Given the description of an element on the screen output the (x, y) to click on. 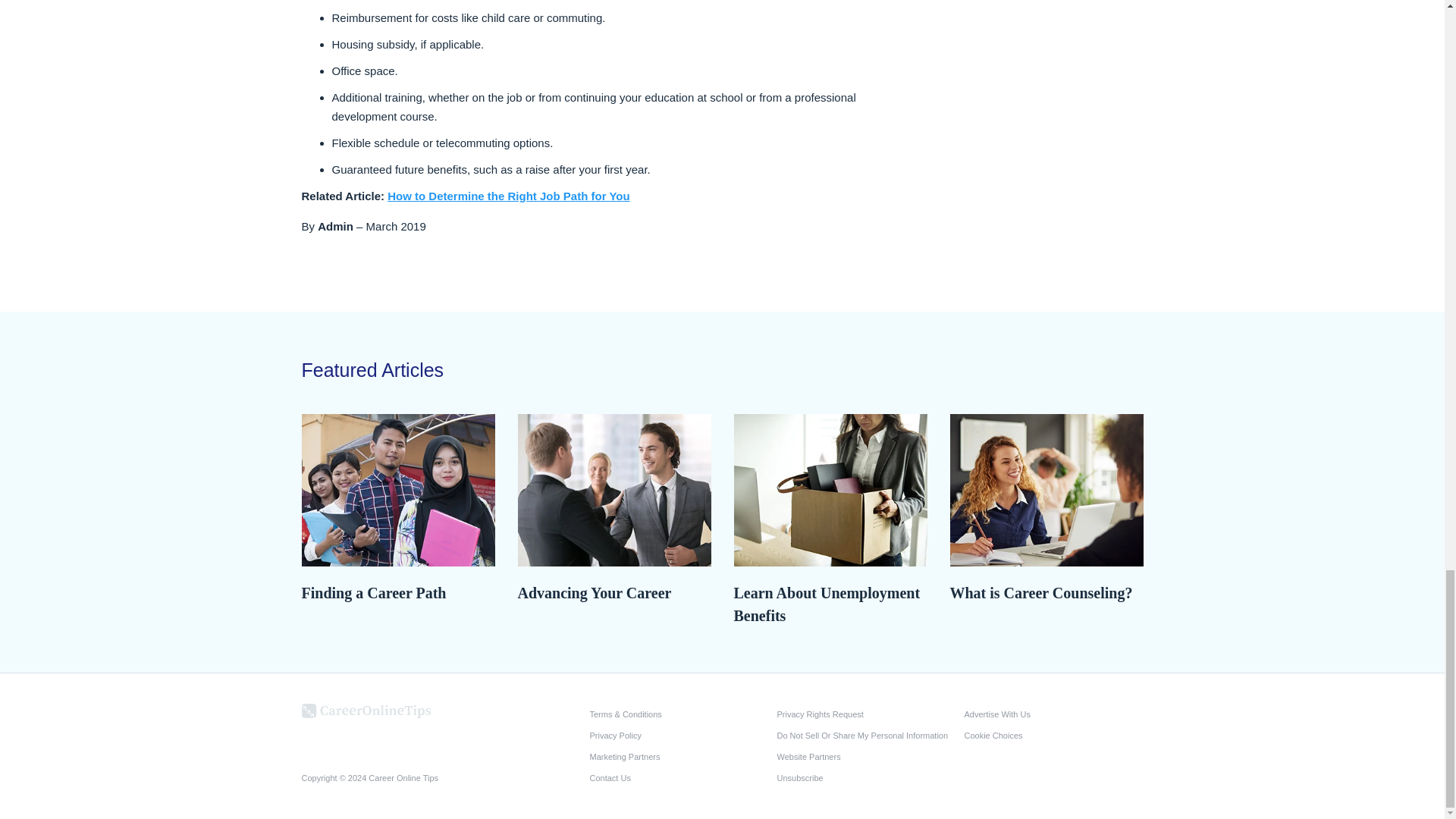
Marketing Partners (678, 756)
Website Partners (865, 756)
What is Career Counseling? (1045, 592)
Career Online Tips (365, 709)
How to Determine the Right Job Path for You (507, 195)
Advancing Your Career (613, 592)
Contact Us (678, 777)
Advertise With Us (1052, 713)
Cookie Choices (1052, 735)
Contact Us (678, 777)
Privacy Rights Request (865, 713)
Privacy Policy (678, 735)
Privacy Policy (678, 735)
Do Not Sell Or Share My Personal Information (865, 735)
Marketing Partners (678, 756)
